Given the description of an element on the screen output the (x, y) to click on. 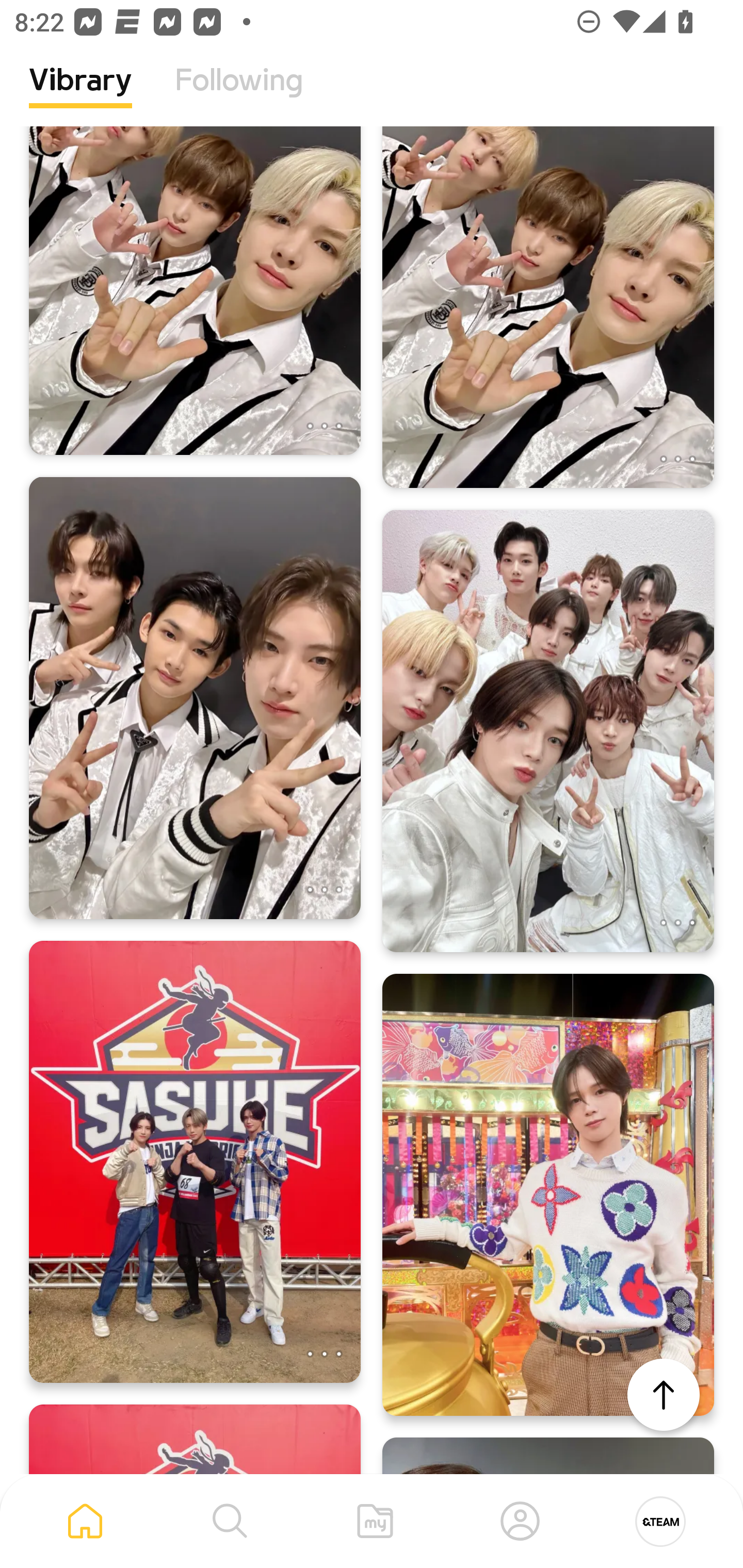
Vibrary (80, 95)
Following (239, 95)
